Given the description of an element on the screen output the (x, y) to click on. 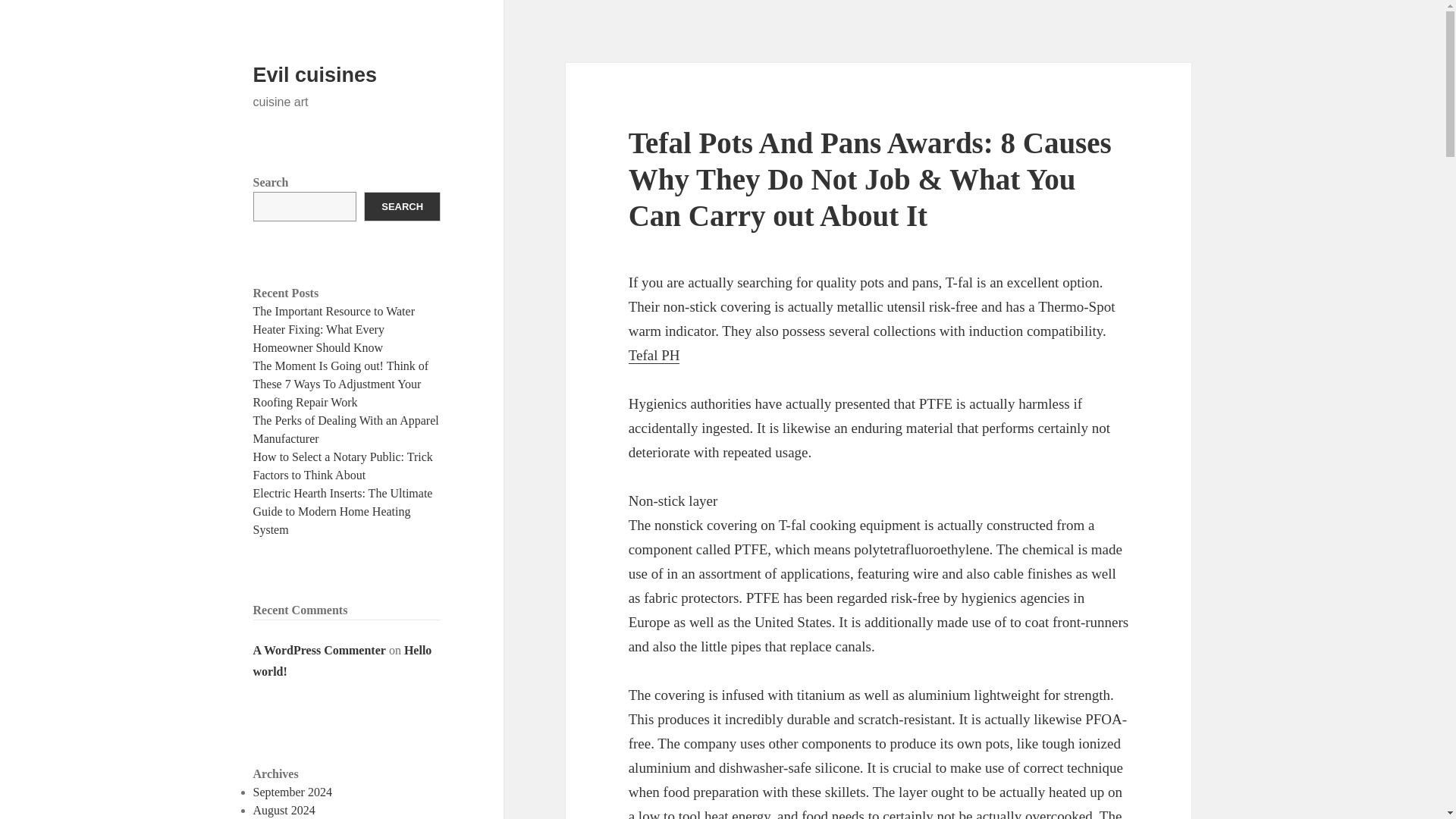
Hello world! (342, 660)
September 2024 (292, 791)
How to Select a Notary Public: Trick Factors to Think About (342, 465)
A WordPress Commenter (319, 649)
The Perks of Dealing With an Apparel Manufacturer (346, 429)
SEARCH (402, 206)
August 2024 (284, 809)
